Given the description of an element on the screen output the (x, y) to click on. 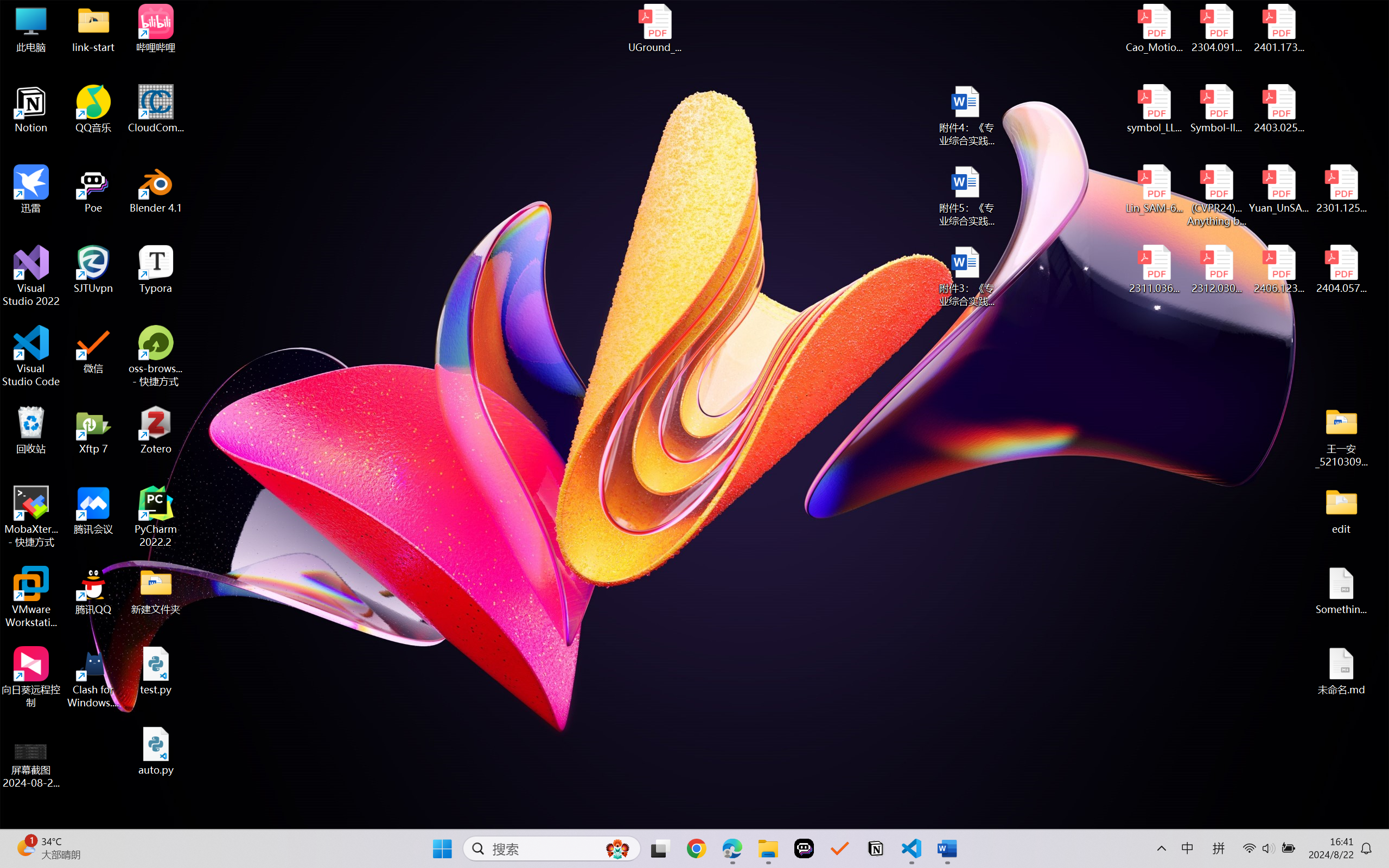
UGround_paper.pdf (654, 28)
2401.17399v1.pdf (1278, 28)
CloudCompare (156, 109)
2312.03032v2.pdf (1216, 269)
test.py (156, 670)
